Given the description of an element on the screen output the (x, y) to click on. 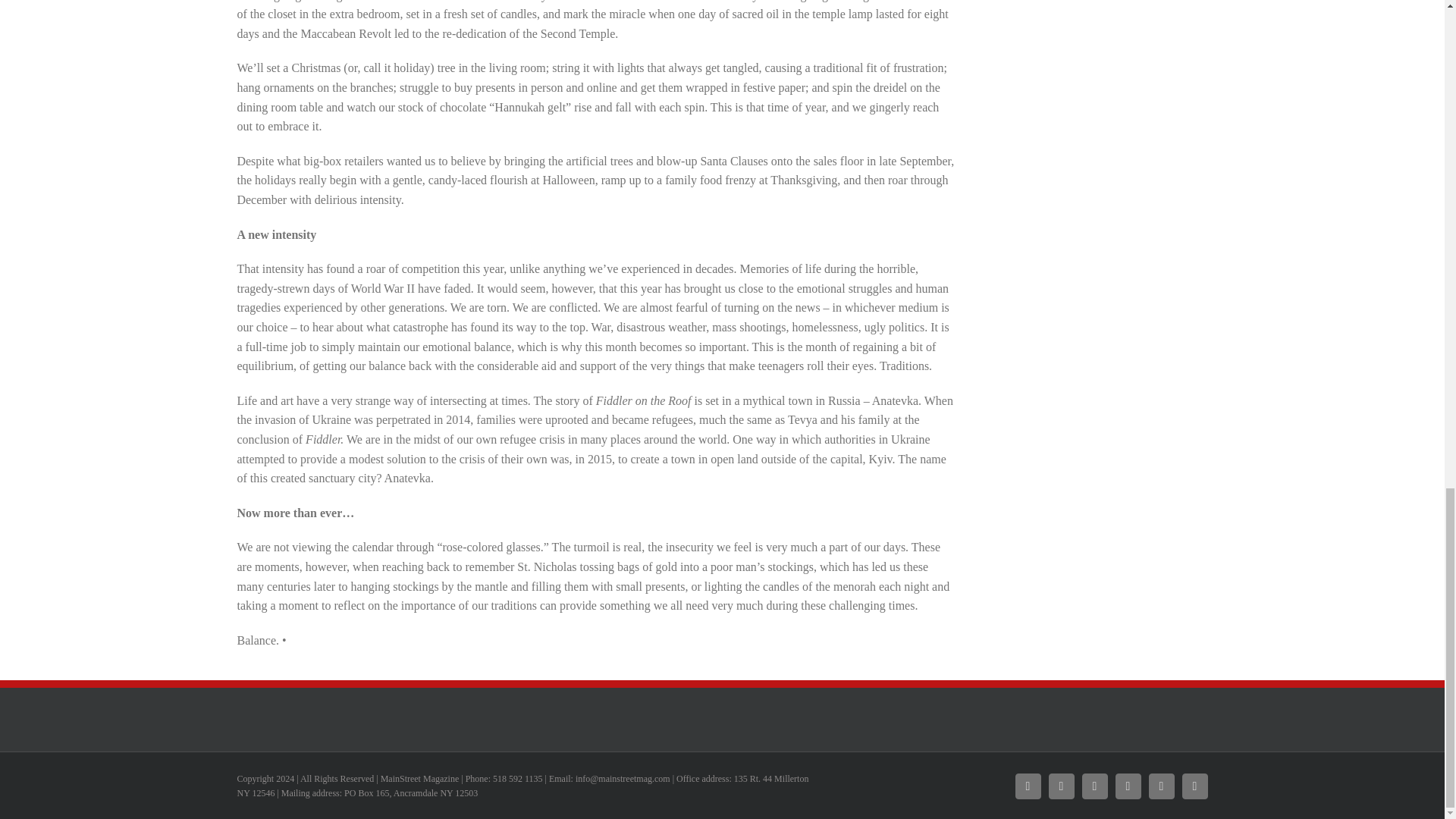
Tiktok (1160, 786)
Facebook (1027, 786)
Instagram (1061, 786)
Moxie Podcast (1093, 786)
YouTube (1127, 786)
